Given the description of an element on the screen output the (x, y) to click on. 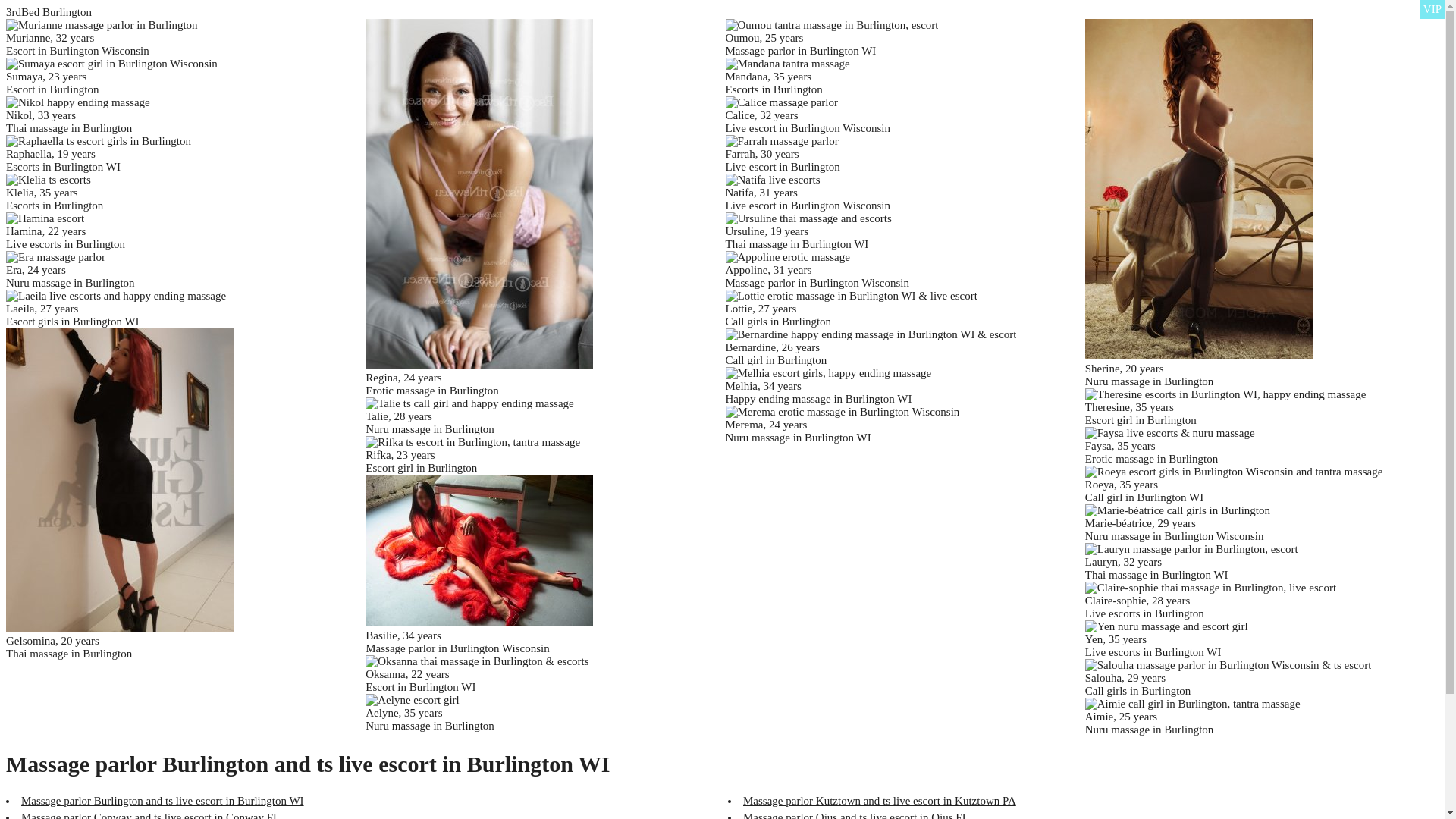
3rdBed Element type: text (22, 12)
Massage parlor Kutztown and ts live escort in Kutztown PA Element type: text (879, 800)
